Given the description of an element on the screen output the (x, y) to click on. 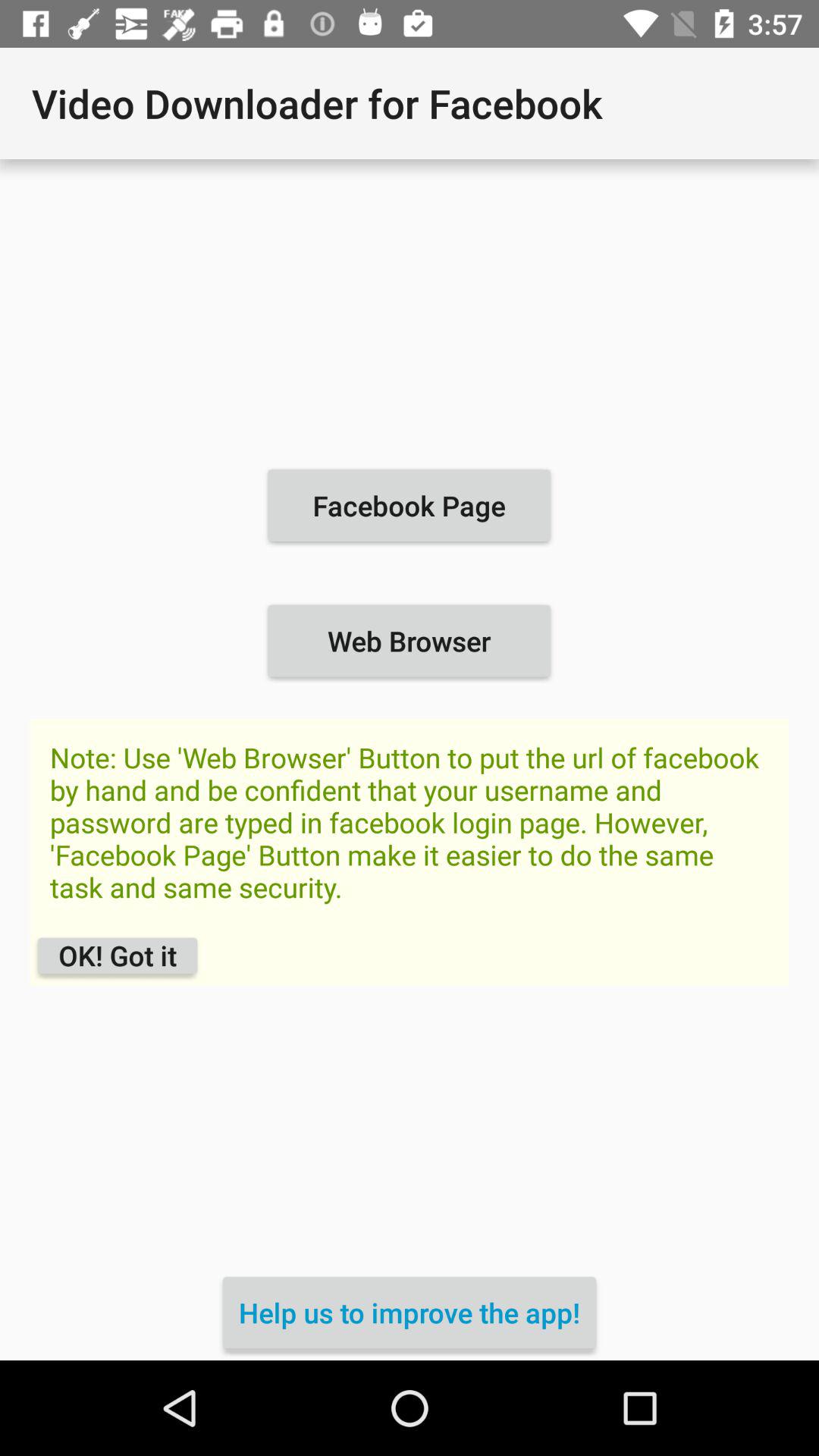
press the icon on the left (117, 955)
